Given the description of an element on the screen output the (x, y) to click on. 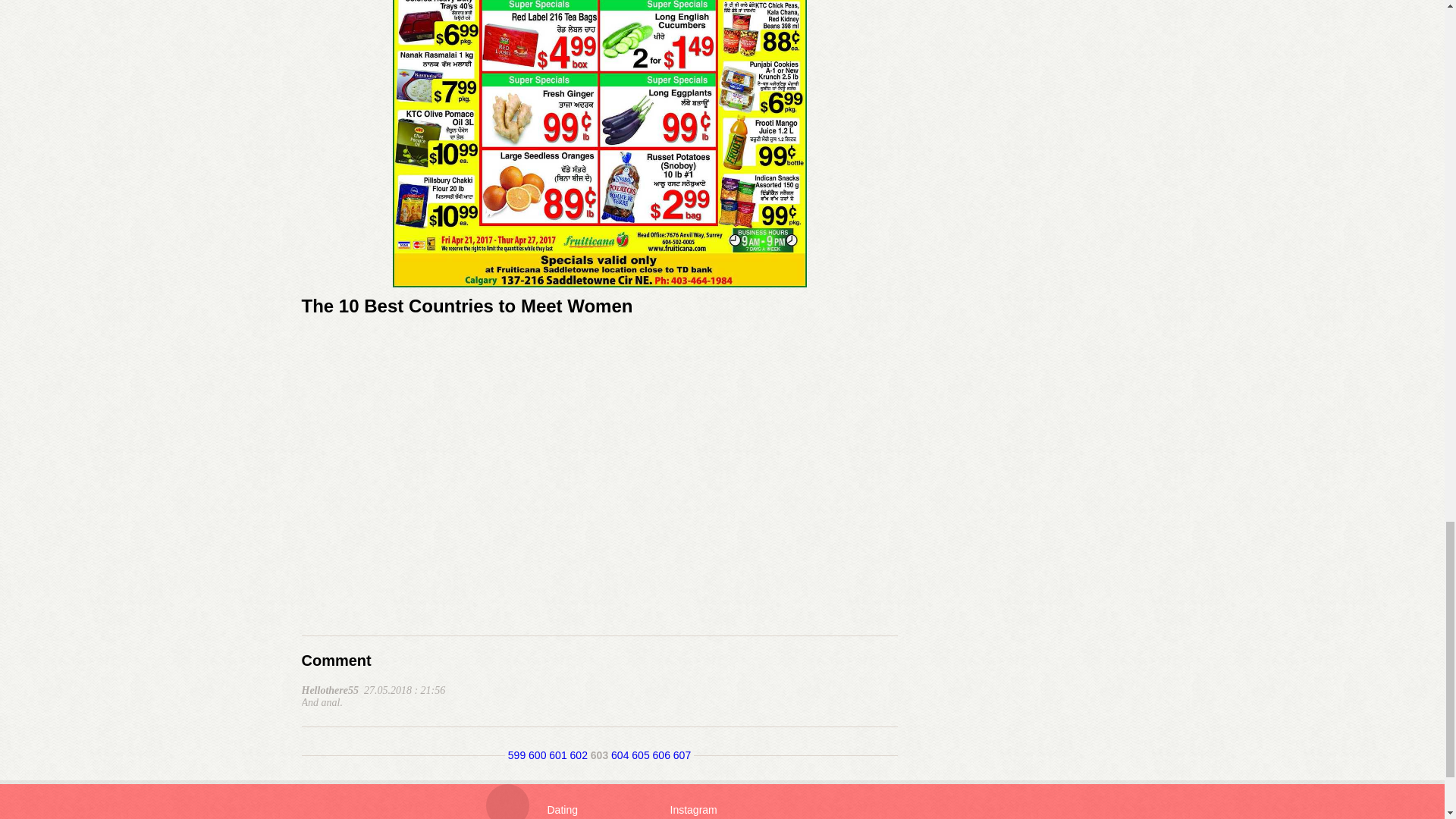
600 (537, 755)
Upwards (506, 801)
605 (640, 755)
Upwards (506, 801)
599 (516, 755)
602 (579, 755)
Dating (562, 809)
604 (619, 755)
607 (681, 755)
601 (557, 755)
